Given the description of an element on the screen output the (x, y) to click on. 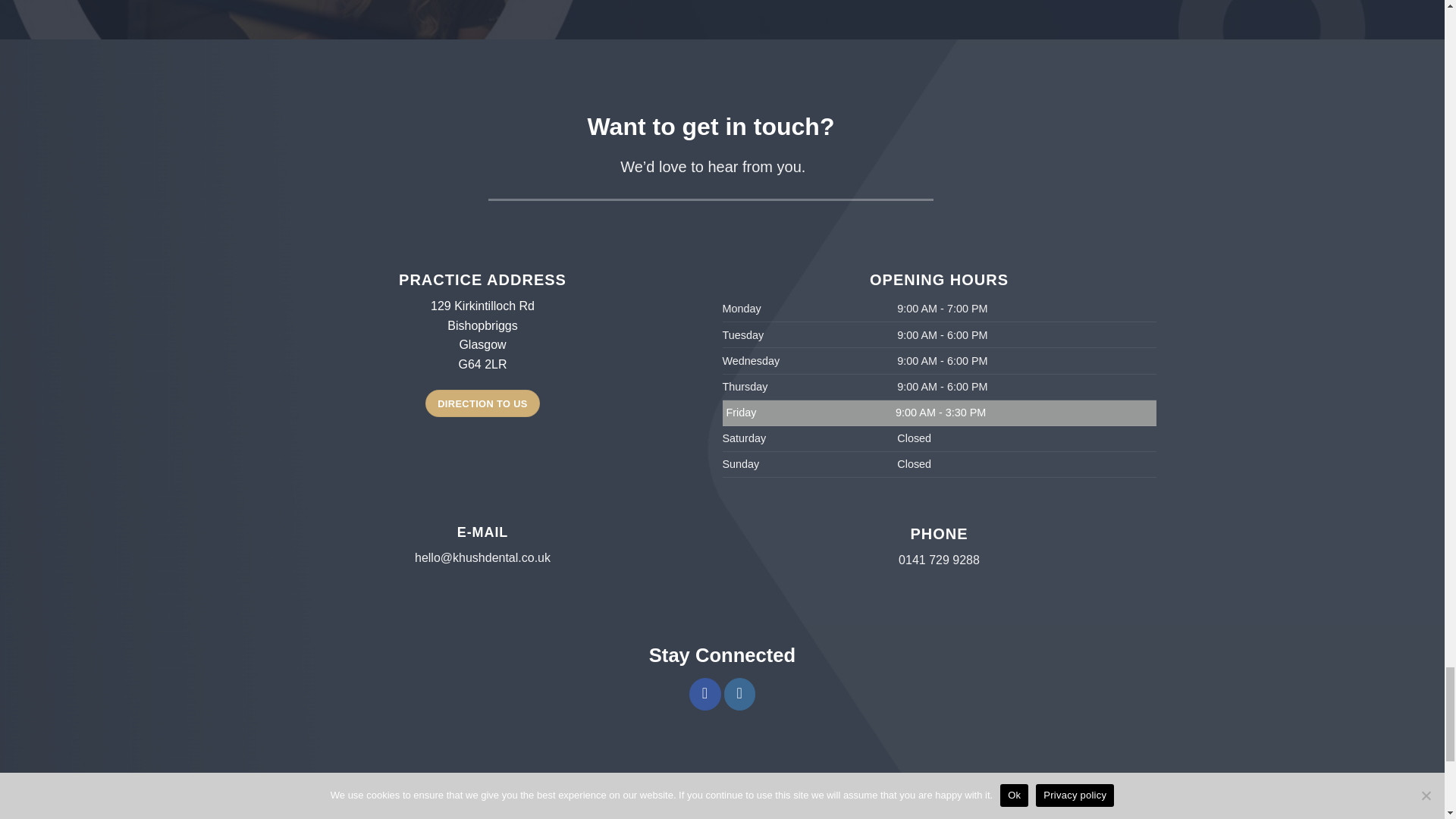
Follow on Instagram (739, 694)
Follow on Facebook (704, 694)
